Given the description of an element on the screen output the (x, y) to click on. 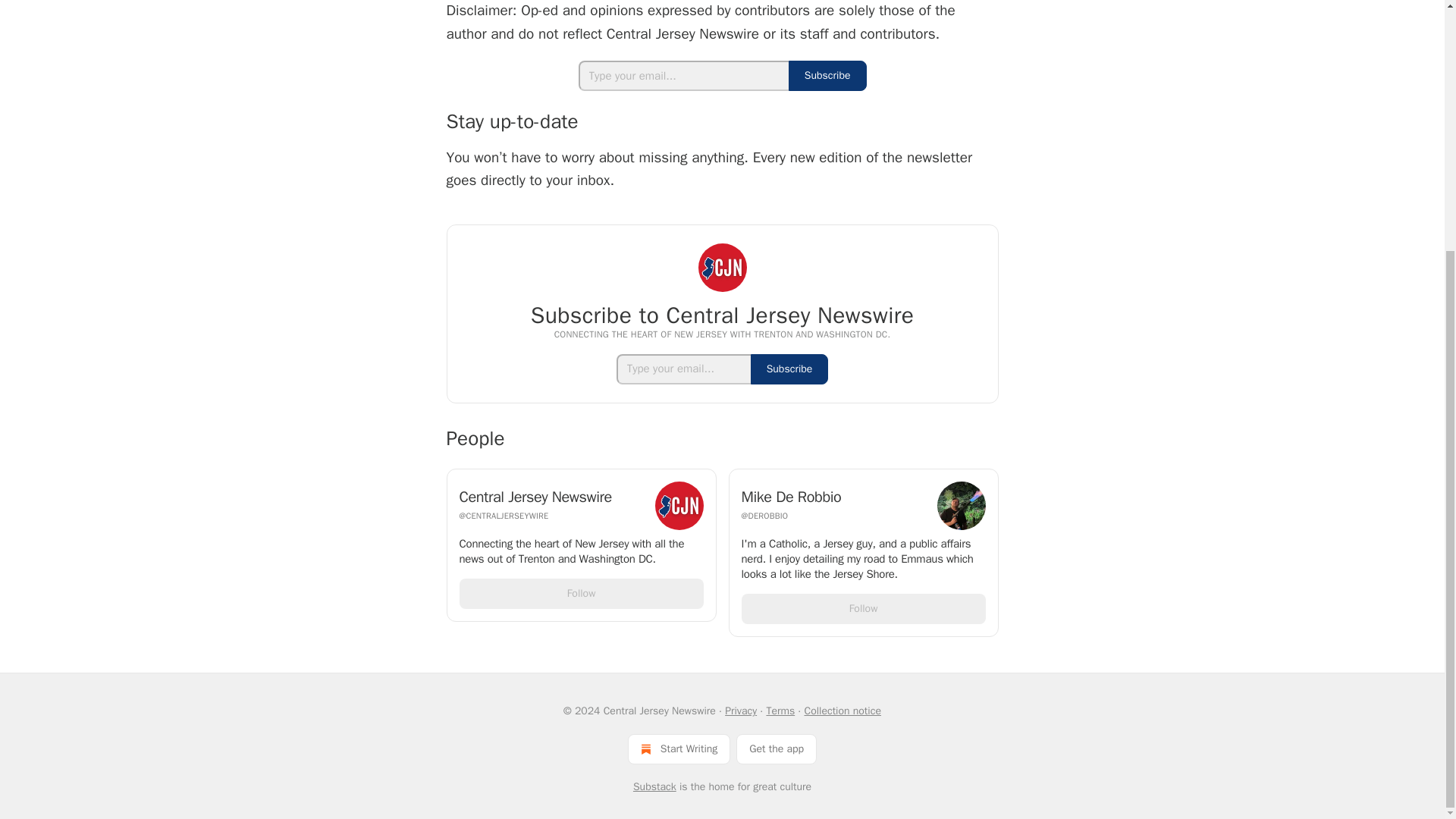
Subscribe (789, 368)
Start Writing (678, 748)
Substack (655, 786)
Follow (581, 593)
Mike De Robbio (834, 497)
Get the app (776, 748)
Privacy (741, 710)
Central Jersey Newswire (553, 497)
Collection notice (841, 710)
Terms (779, 710)
